Given the description of an element on the screen output the (x, y) to click on. 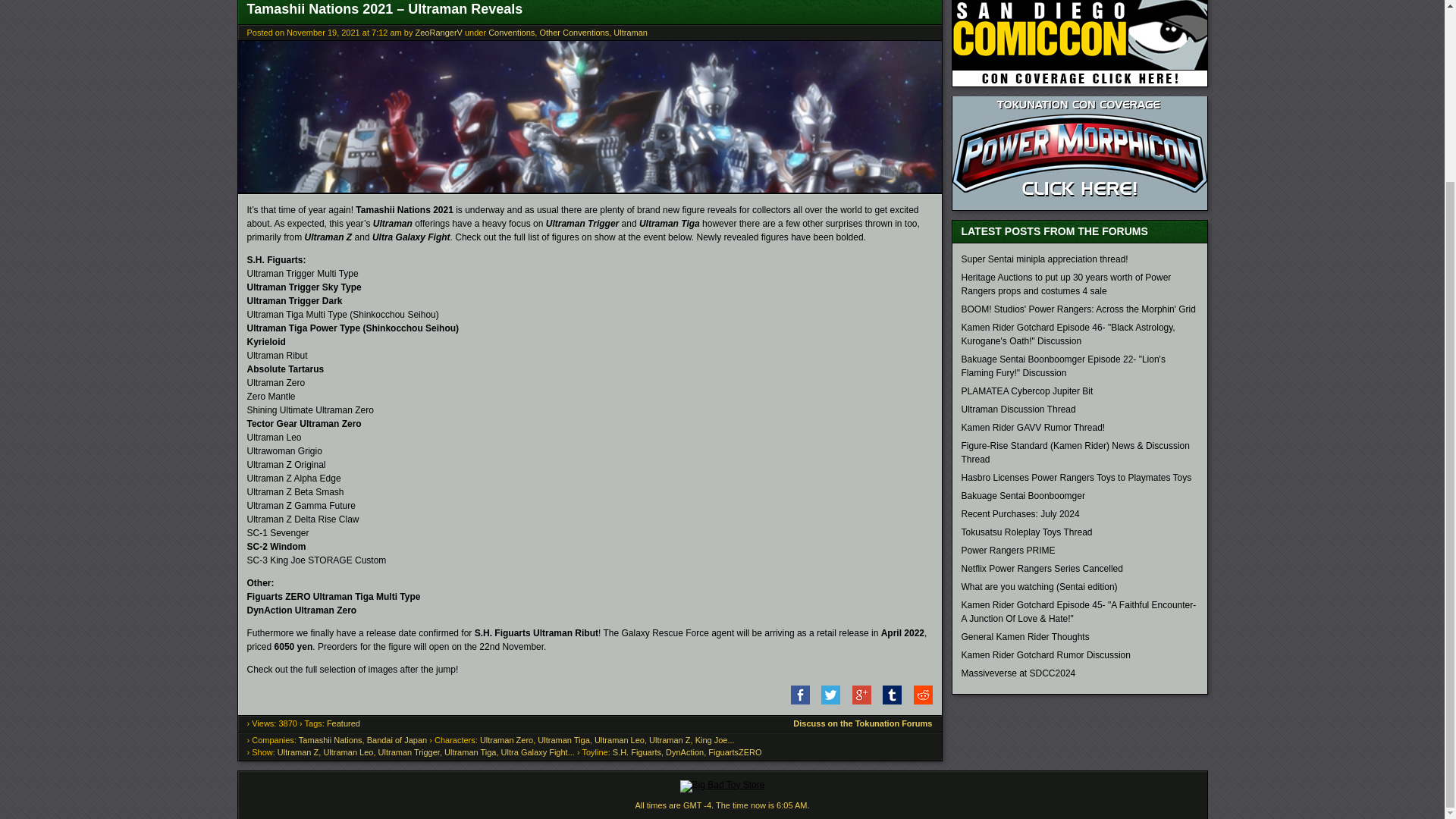
SDCC (1079, 43)
Power Morphicon 2014 (1079, 206)
Share with friends on Facebook (795, 701)
Power Morphicon (1079, 152)
San Diego Comic Con (1079, 82)
Share with followers on Twitter (826, 701)
Post to tumblr (887, 701)
reddit this! (917, 701)
